Given the description of an element on the screen output the (x, y) to click on. 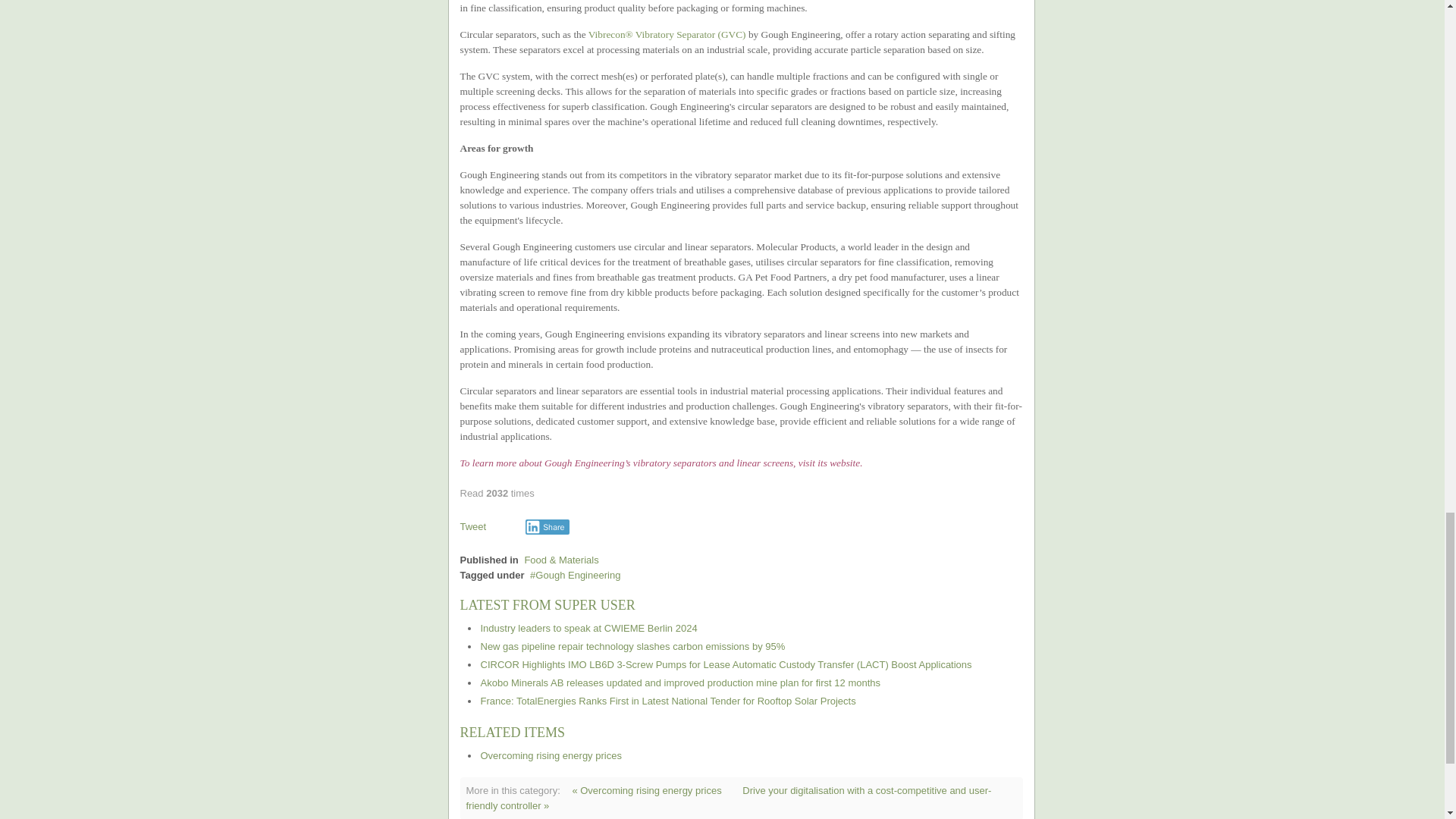
visit its website (828, 462)
Vibrecon (607, 34)
Share (547, 526)
Industry leaders to speak at CWIEME Berlin 2024 (588, 627)
Tweet (473, 526)
Gough Engineering (574, 574)
